Given the description of an element on the screen output the (x, y) to click on. 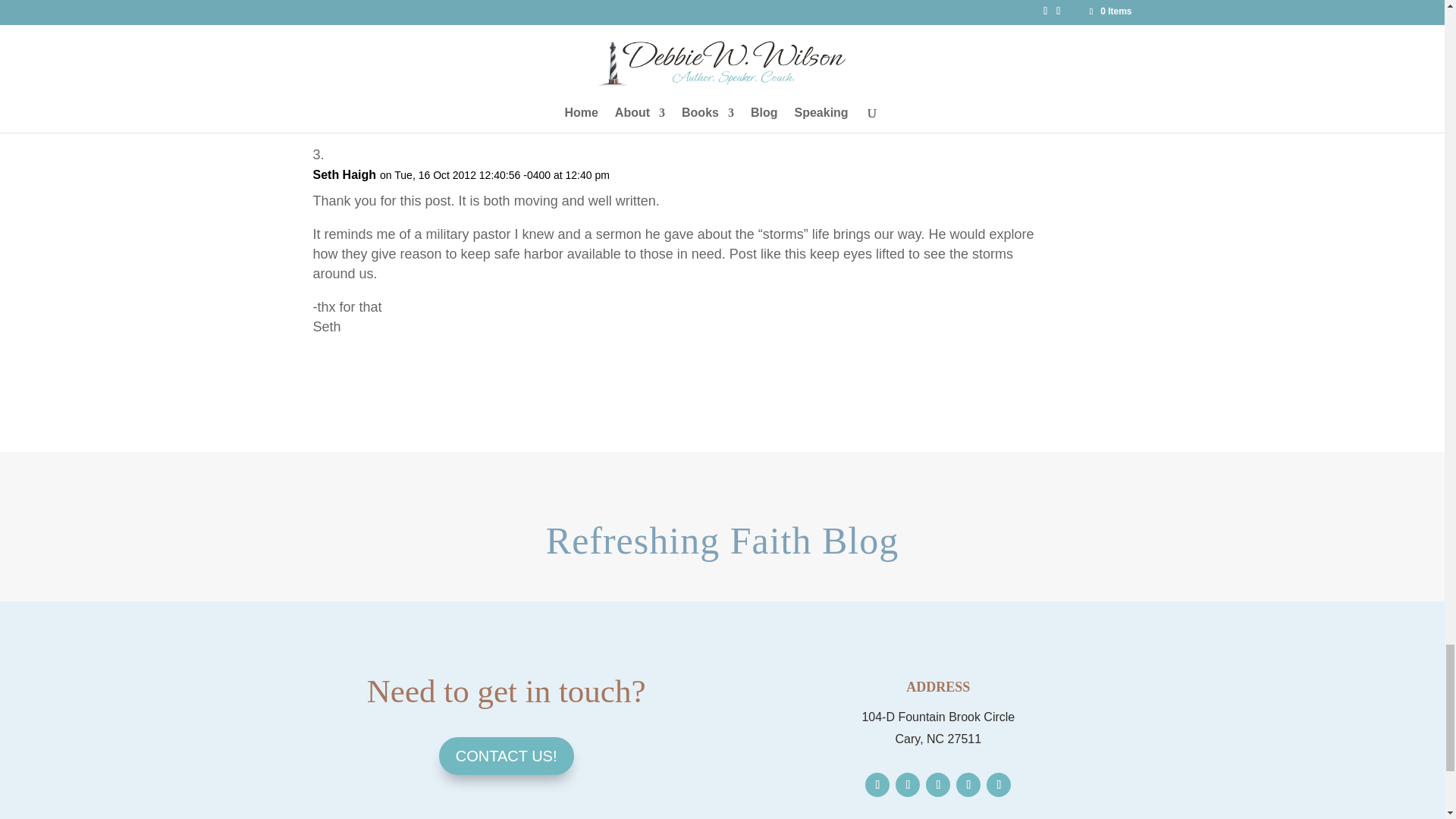
Follow on X (907, 784)
Follow on Instagram (938, 784)
Follow on Facebook (876, 784)
Follow on Pinterest (967, 784)
Follow on RSS (998, 784)
